Given the description of an element on the screen output the (x, y) to click on. 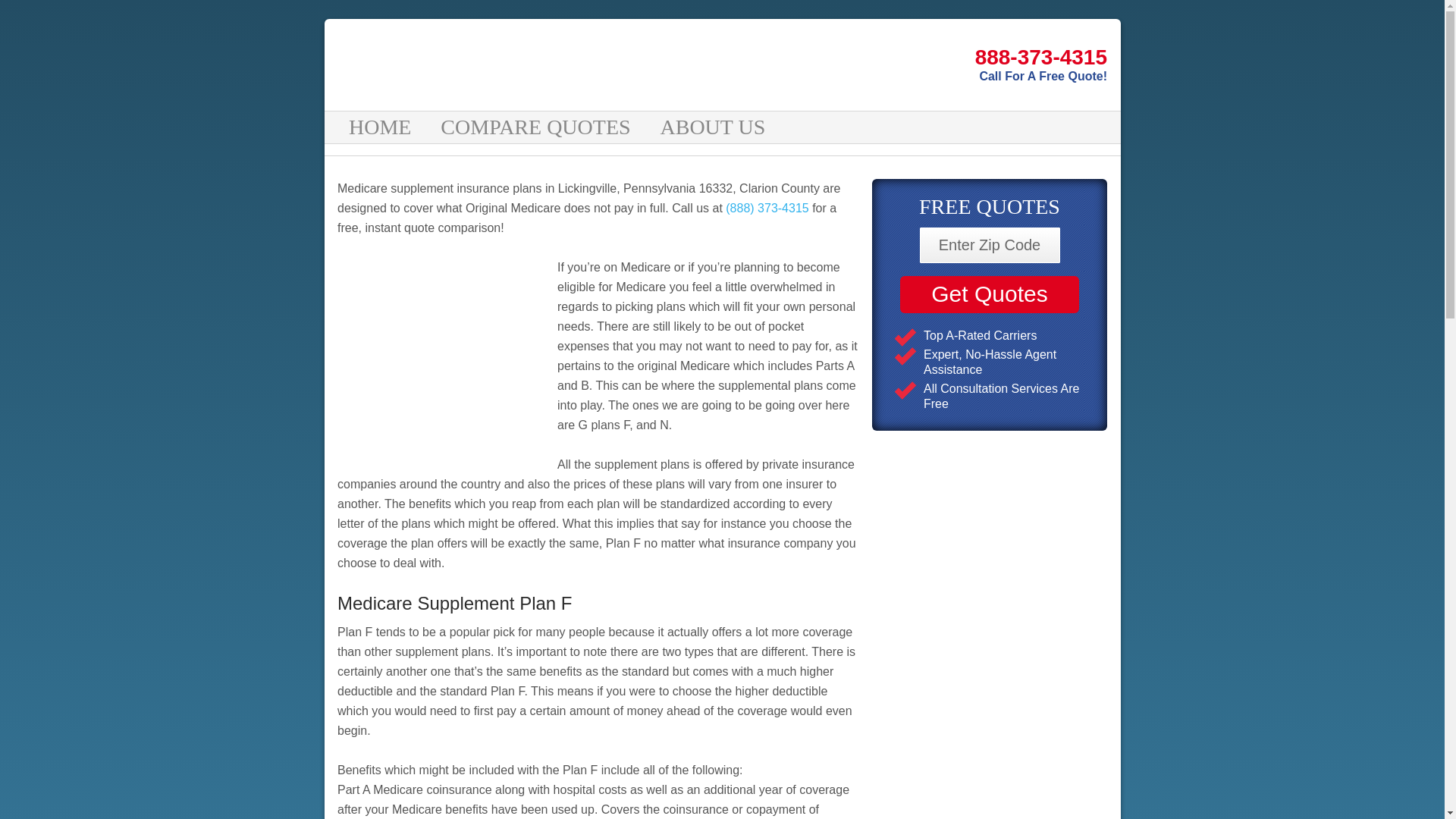
HOME (381, 127)
ABOUT US (713, 127)
Get Quotes (988, 294)
Pennsylvania Medigap Plans (517, 64)
Get Quotes (988, 294)
COMPARE QUOTES (537, 127)
888-373-4315 (905, 57)
